Given the description of an element on the screen output the (x, y) to click on. 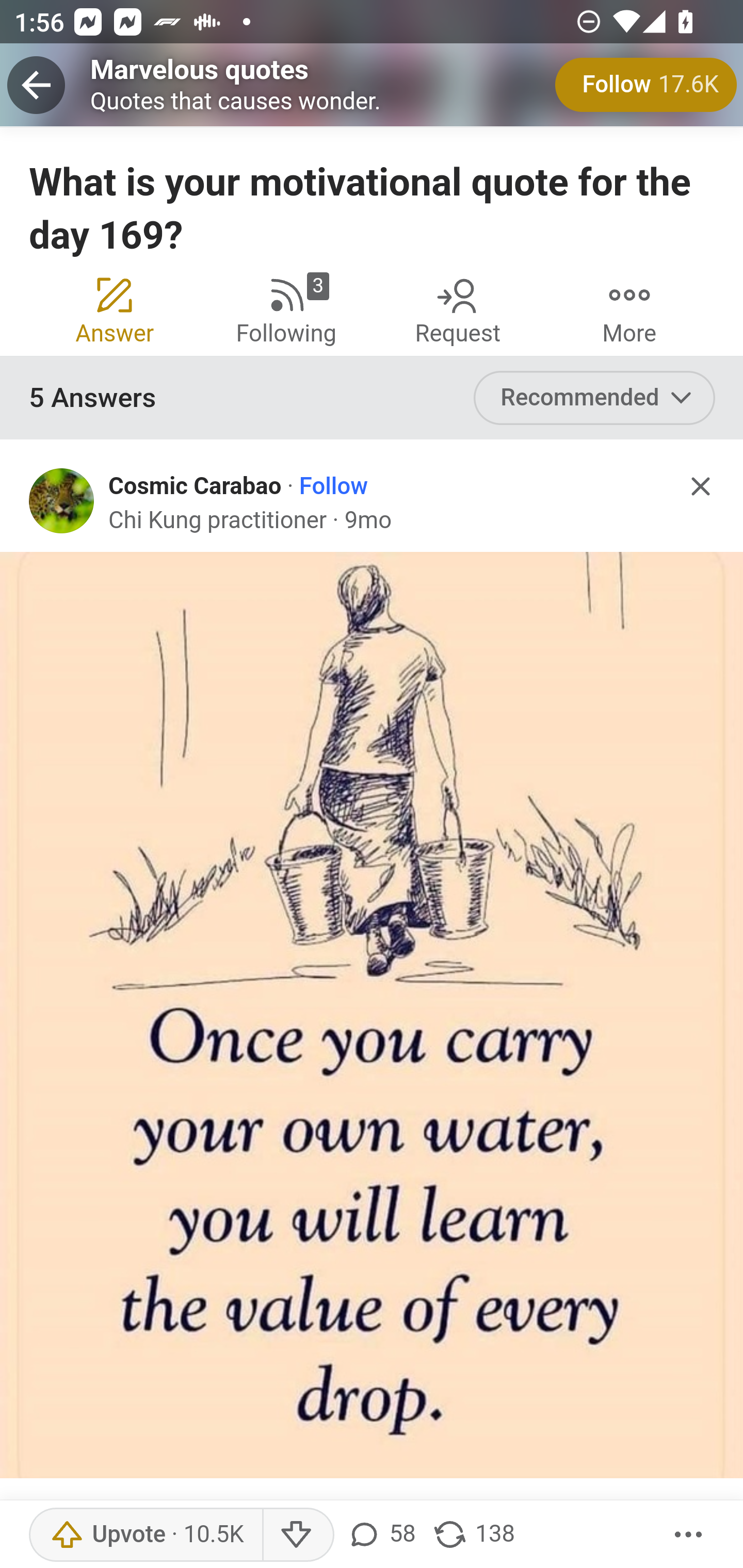
Marvelous quotes (200, 68)
Follow 17.6K (646, 85)
Answer (115, 308)
3 Following (285, 308)
Request (458, 308)
More (628, 308)
Recommended (594, 398)
Hide (700, 486)
Profile photo for Cosmic Carabao (61, 500)
Cosmic Carabao (194, 486)
Follow (333, 486)
main-qimg-59dca475c04e9c370b52487ecc0a79e8 (372, 1015)
Upvote (145, 1534)
Downvote (298, 1534)
58 comments (379, 1534)
138 shares (473, 1534)
More (688, 1534)
